Given the description of an element on the screen output the (x, y) to click on. 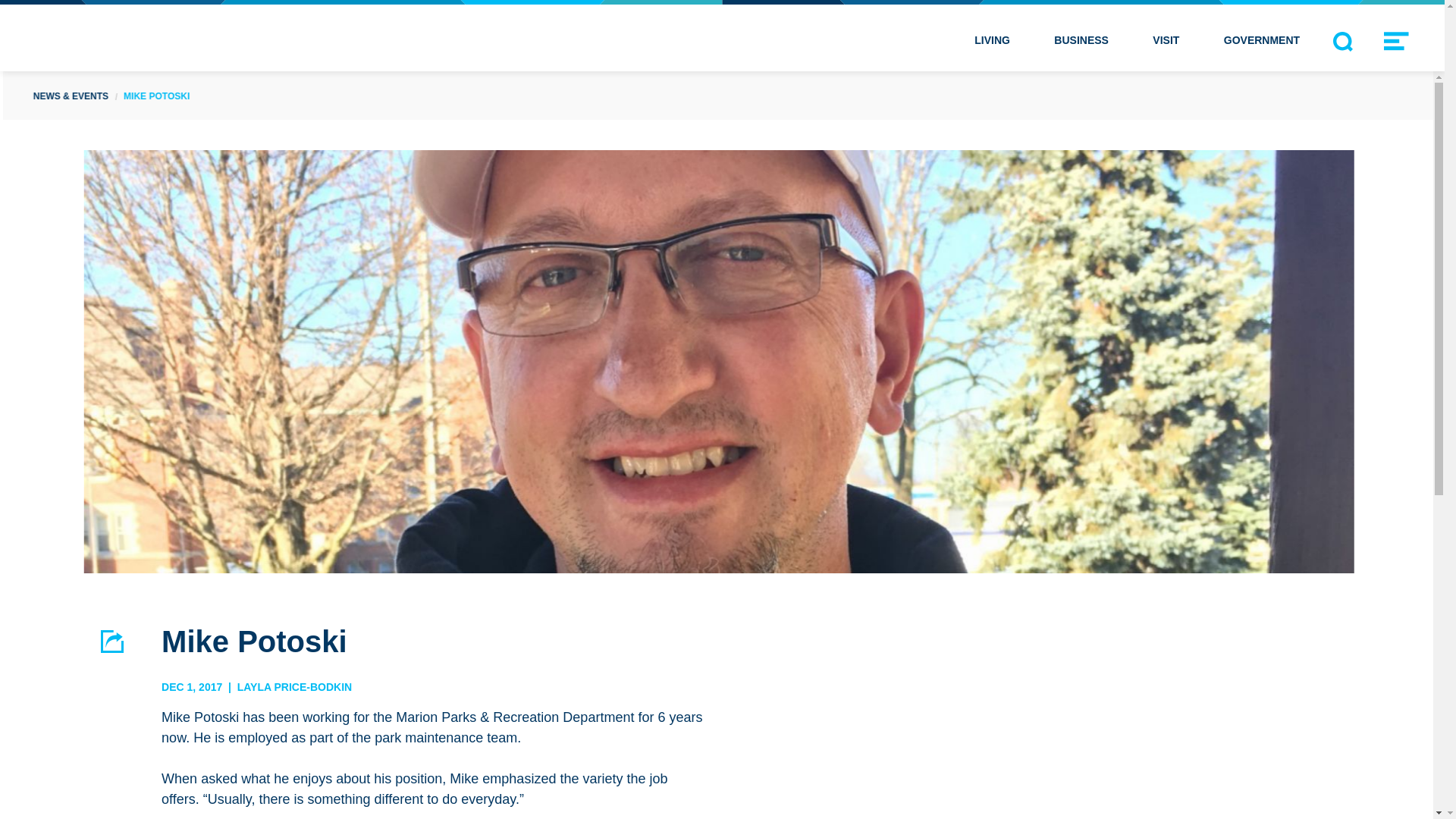
Go to City of Marion homepage (160, 37)
MIKE POTOSKI (156, 95)
Business (1081, 37)
Government (1262, 37)
VISIT (1165, 37)
Visit (1165, 37)
Living (991, 37)
City of Marion (160, 37)
GOVERNMENT (1262, 37)
